Given the description of an element on the screen output the (x, y) to click on. 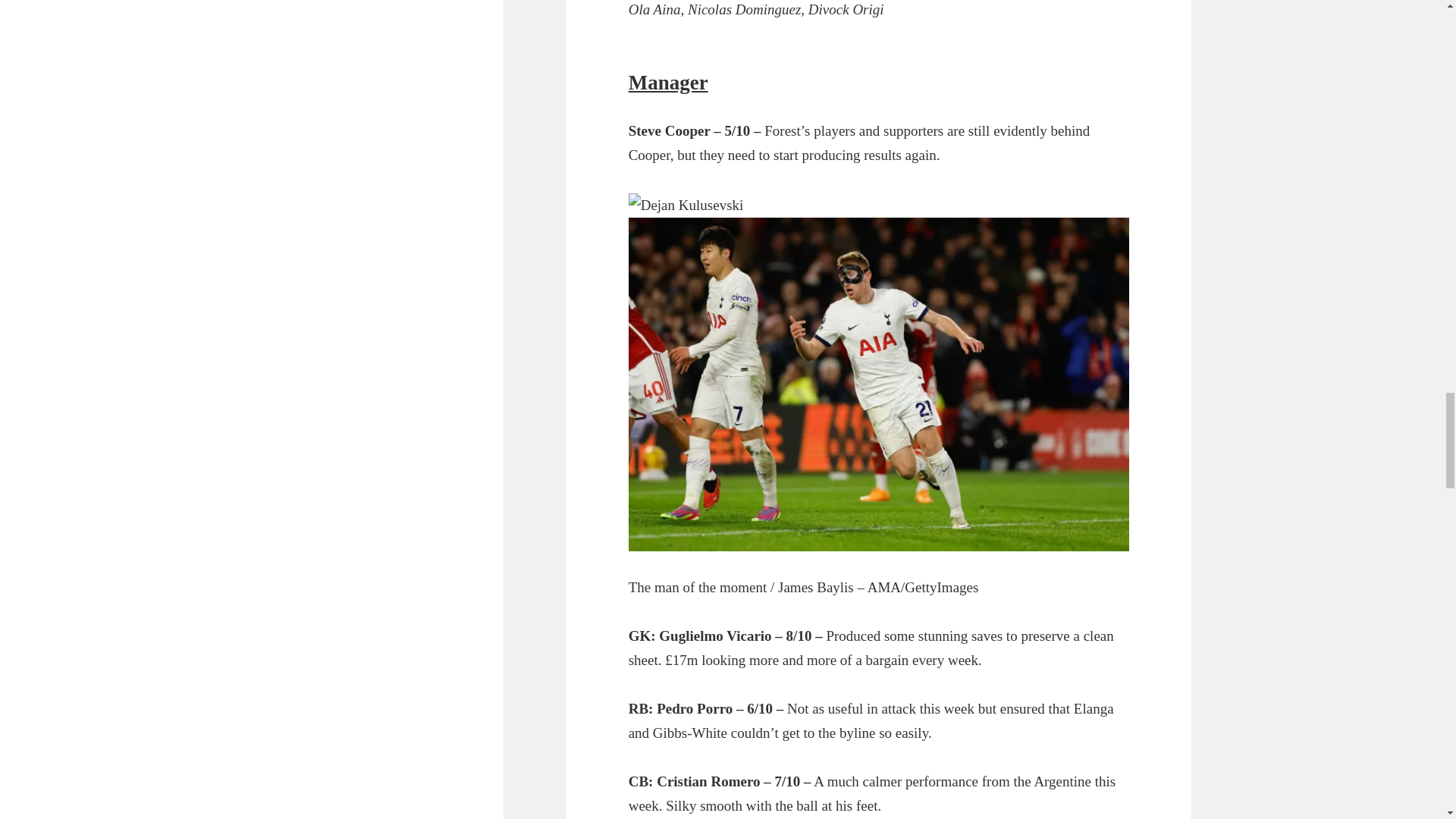
Dejan Kulusevski (686, 205)
